Given the description of an element on the screen output the (x, y) to click on. 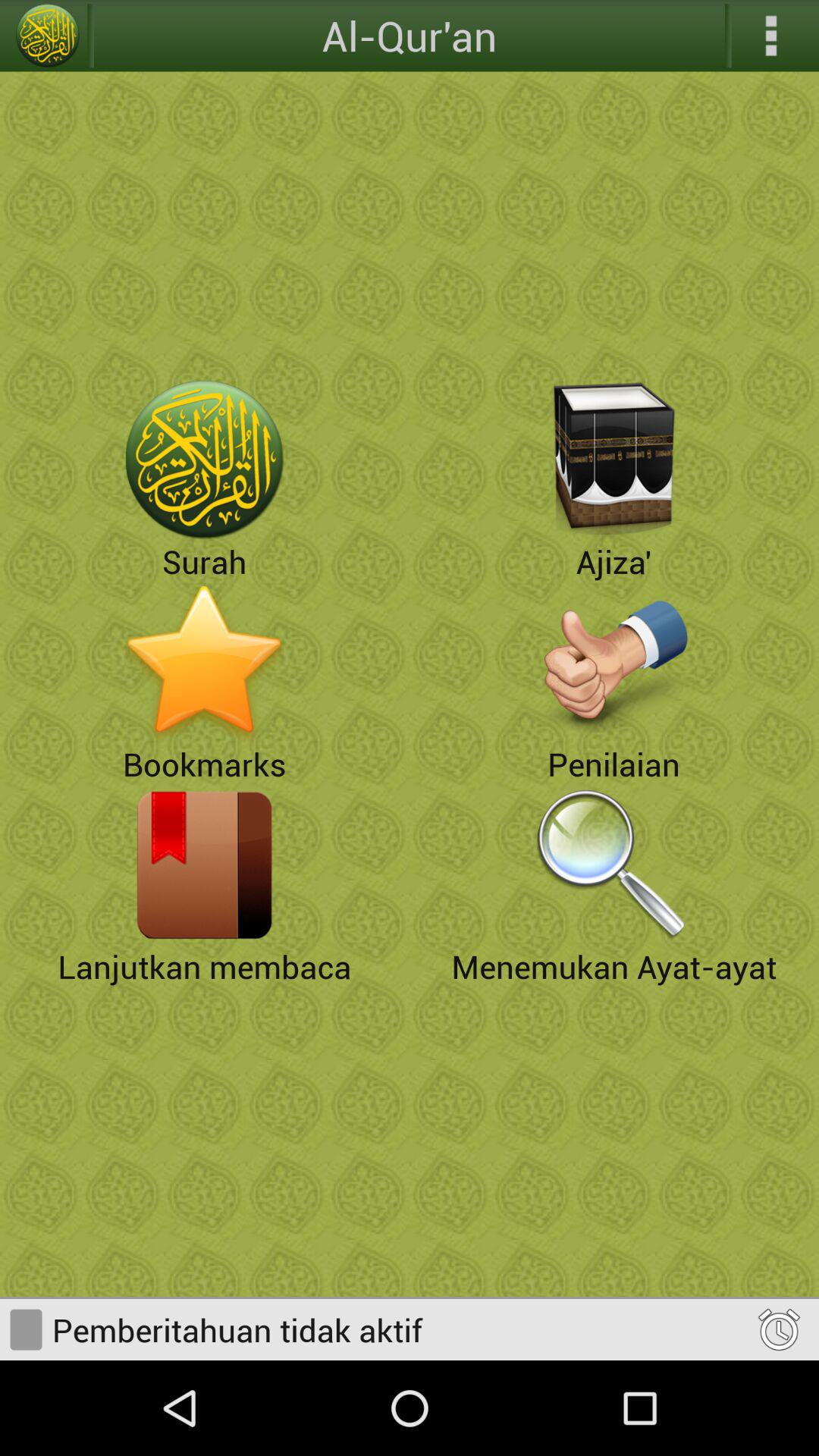
click the app (204, 864)
